Given the description of an element on the screen output the (x, y) to click on. 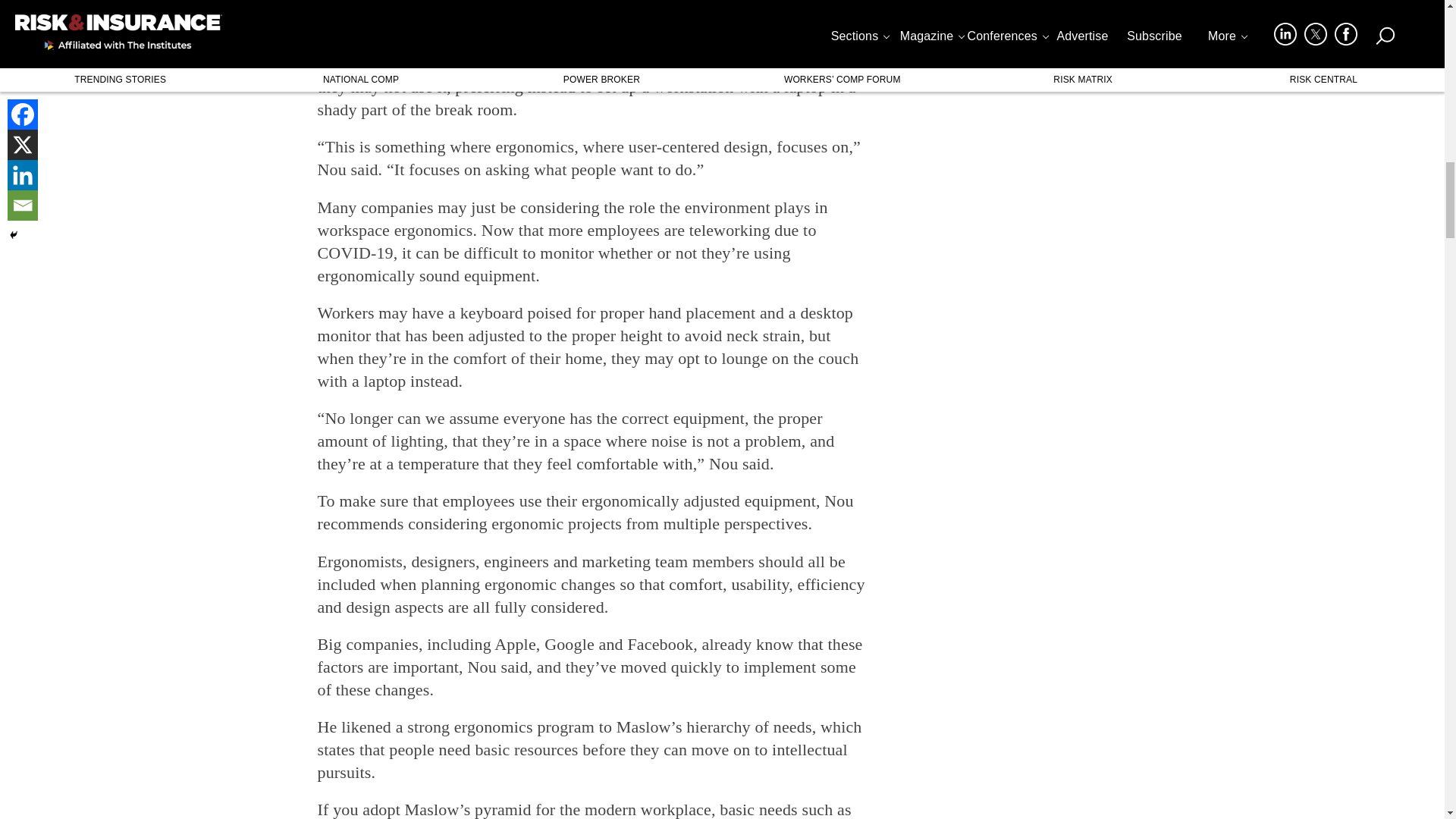
3rd party ad content (592, 15)
